Given the description of an element on the screen output the (x, y) to click on. 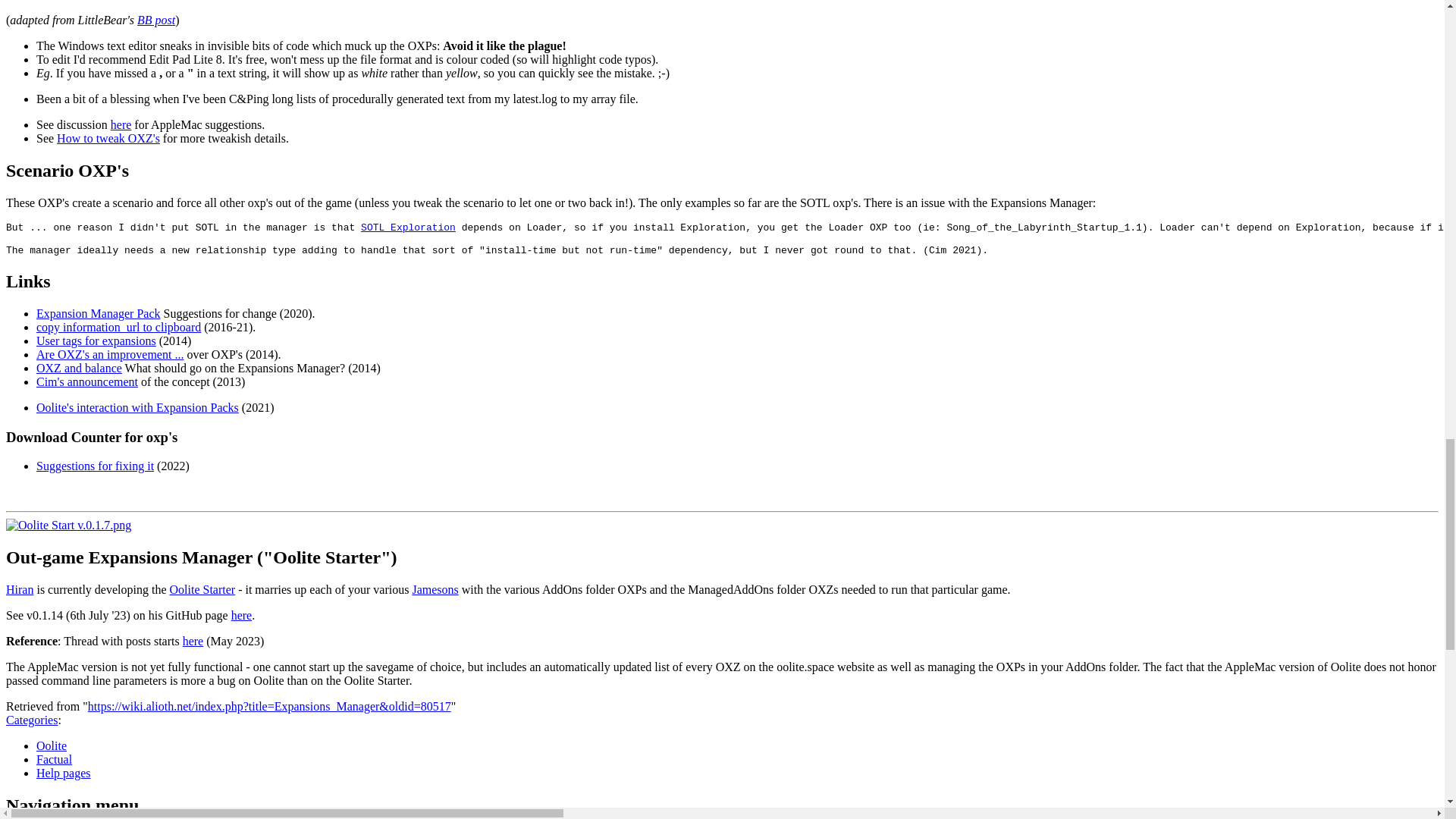
BB post (155, 19)
SOTL Exploration (408, 227)
How to tweak OXZ's (108, 137)
Expansion Manager Pack (98, 313)
here (121, 124)
